Given the description of an element on the screen output the (x, y) to click on. 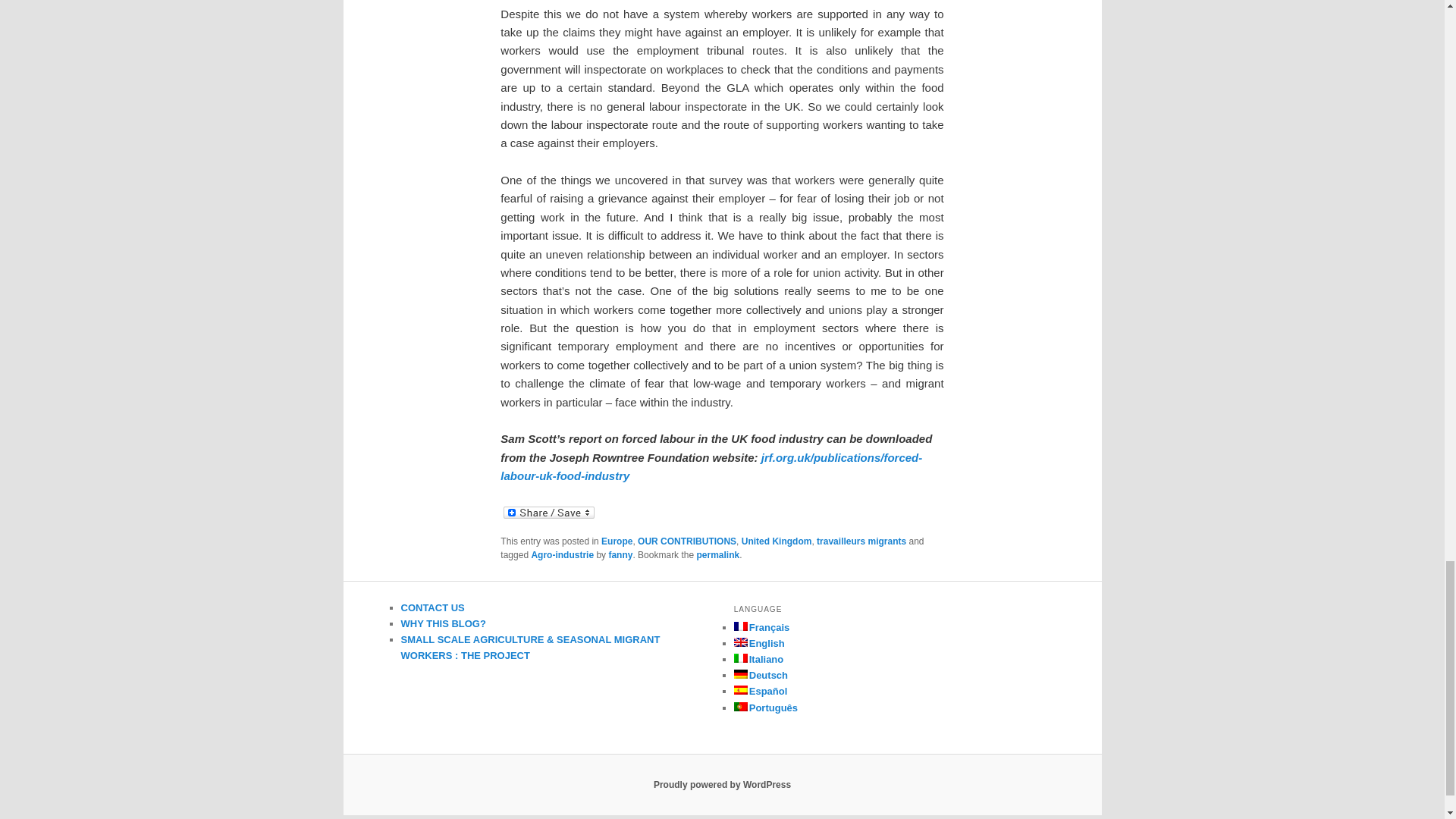
English (758, 643)
Italiano (758, 659)
Semantic Personal Publishing Platform (721, 784)
Deutsch (760, 674)
